Given the description of an element on the screen output the (x, y) to click on. 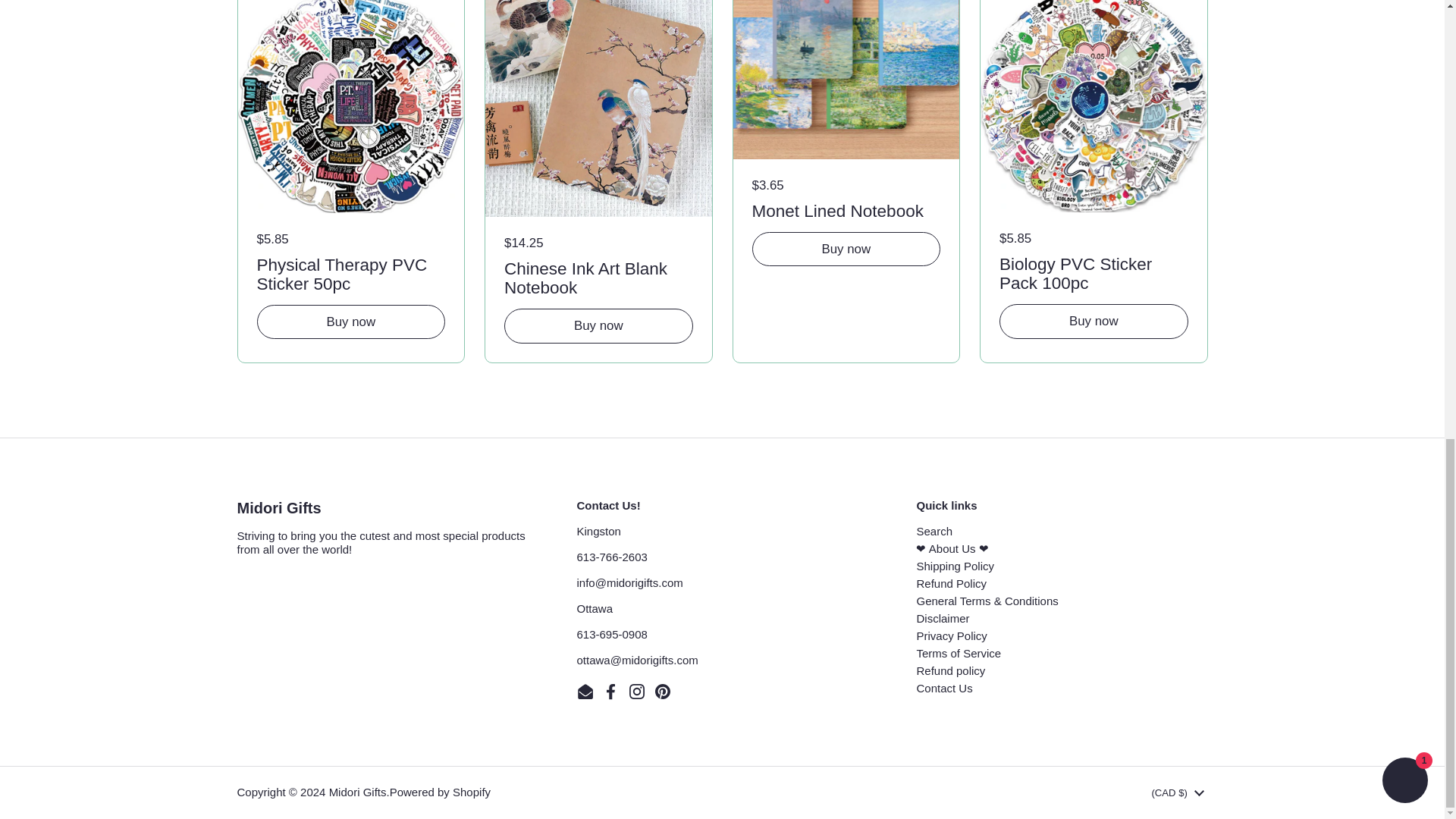
Monet Lined Notebook (846, 208)
Biology PVC Sticker Pack 100pc (1093, 270)
Chinese Ink Art Blank Notebook (598, 275)
Physical Therapy PVC Sticker 50pc (350, 271)
